Given the description of an element on the screen output the (x, y) to click on. 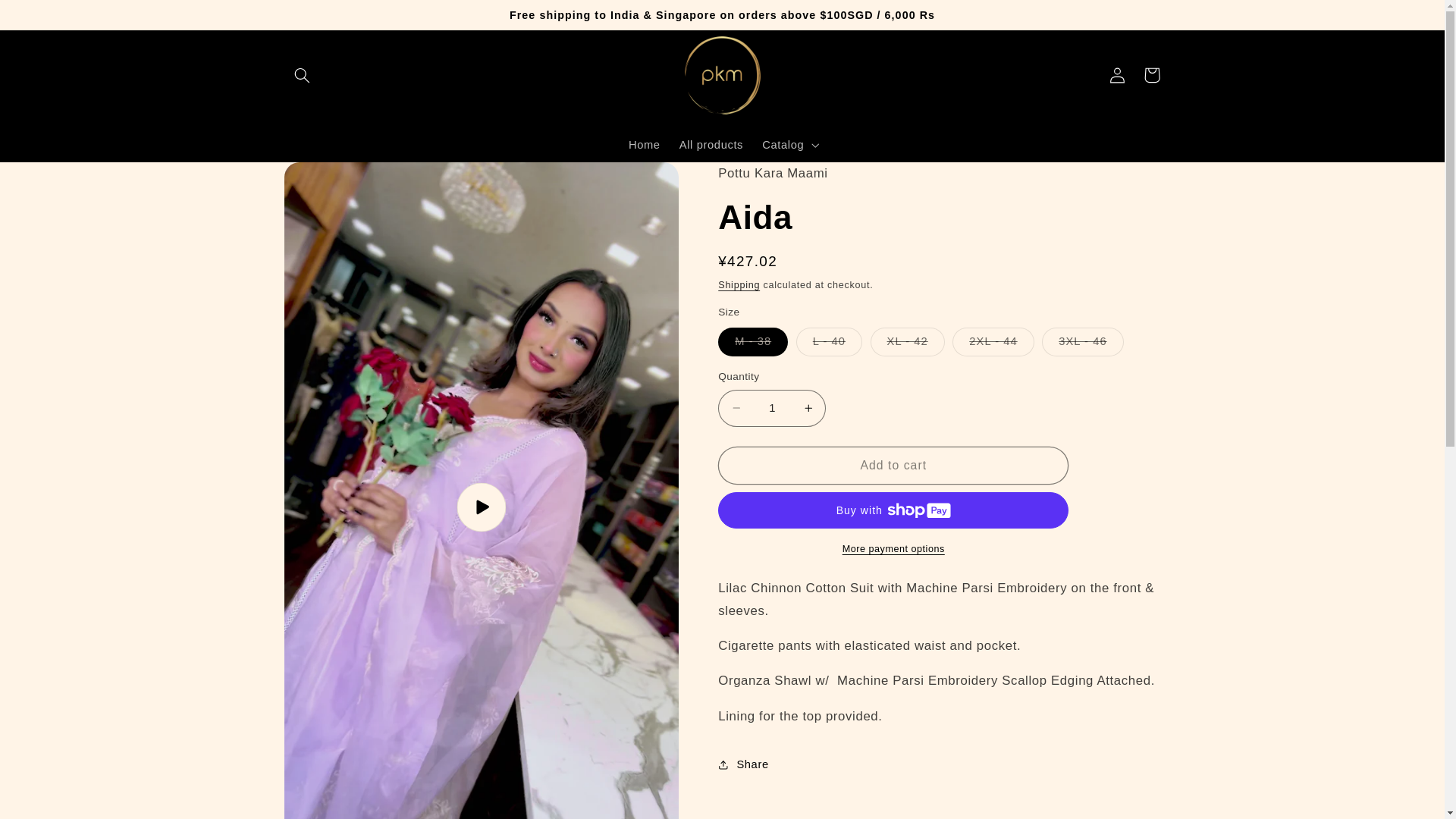
1 (771, 407)
Skip to content (48, 18)
Home (643, 145)
All products (710, 145)
